Given the description of an element on the screen output the (x, y) to click on. 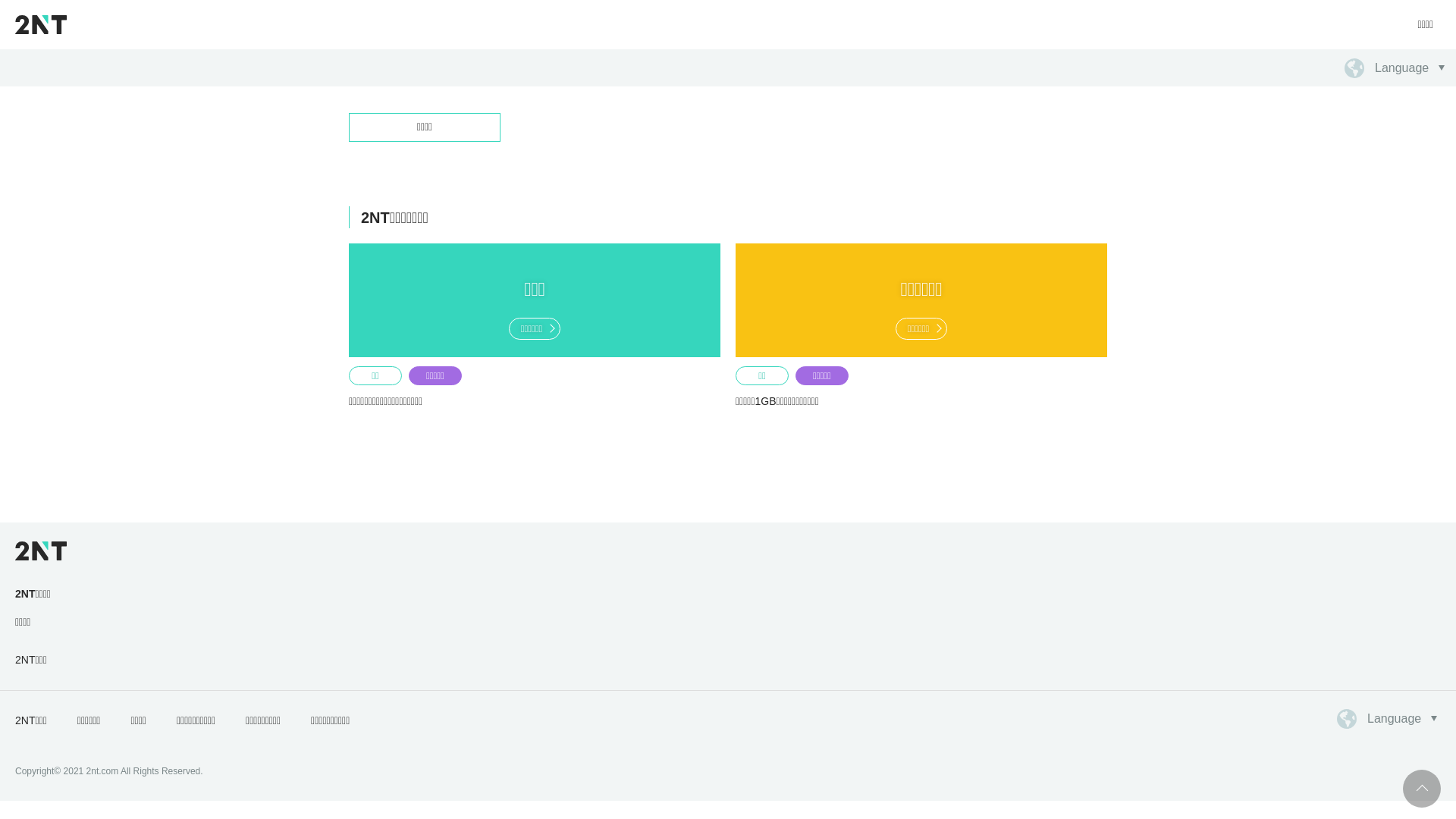
2NT Element type: hover (40, 24)
